Given the description of an element on the screen output the (x, y) to click on. 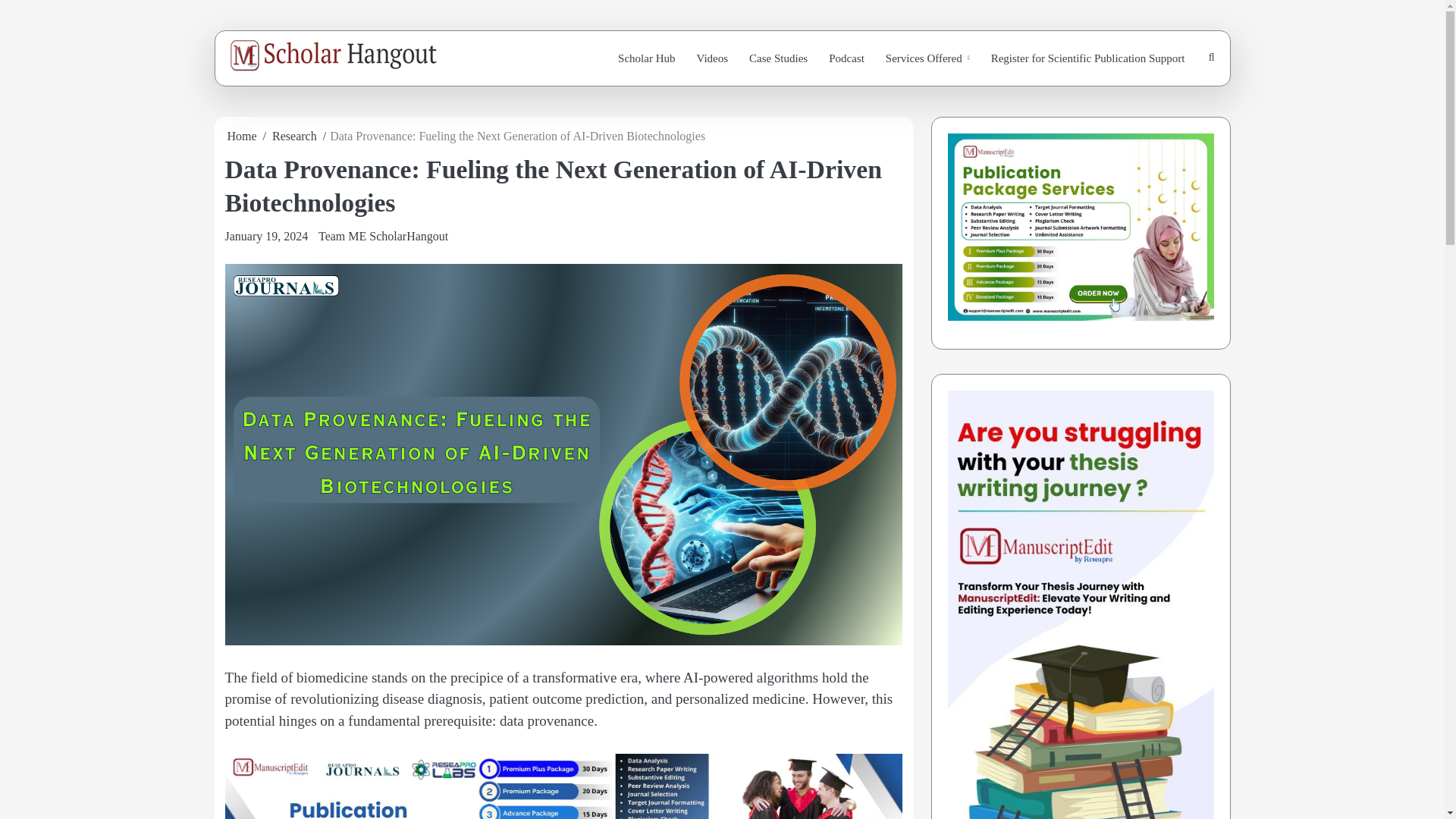
January 19, 2024 (265, 236)
Search (1175, 100)
Research (294, 135)
Services Offered (927, 58)
Team ME ScholarHangout (383, 236)
Scholar Hub (646, 58)
Podcast (846, 58)
Home (242, 135)
Case Studies (778, 58)
Register for Scientific Publication Support (1087, 58)
